Given the description of an element on the screen output the (x, y) to click on. 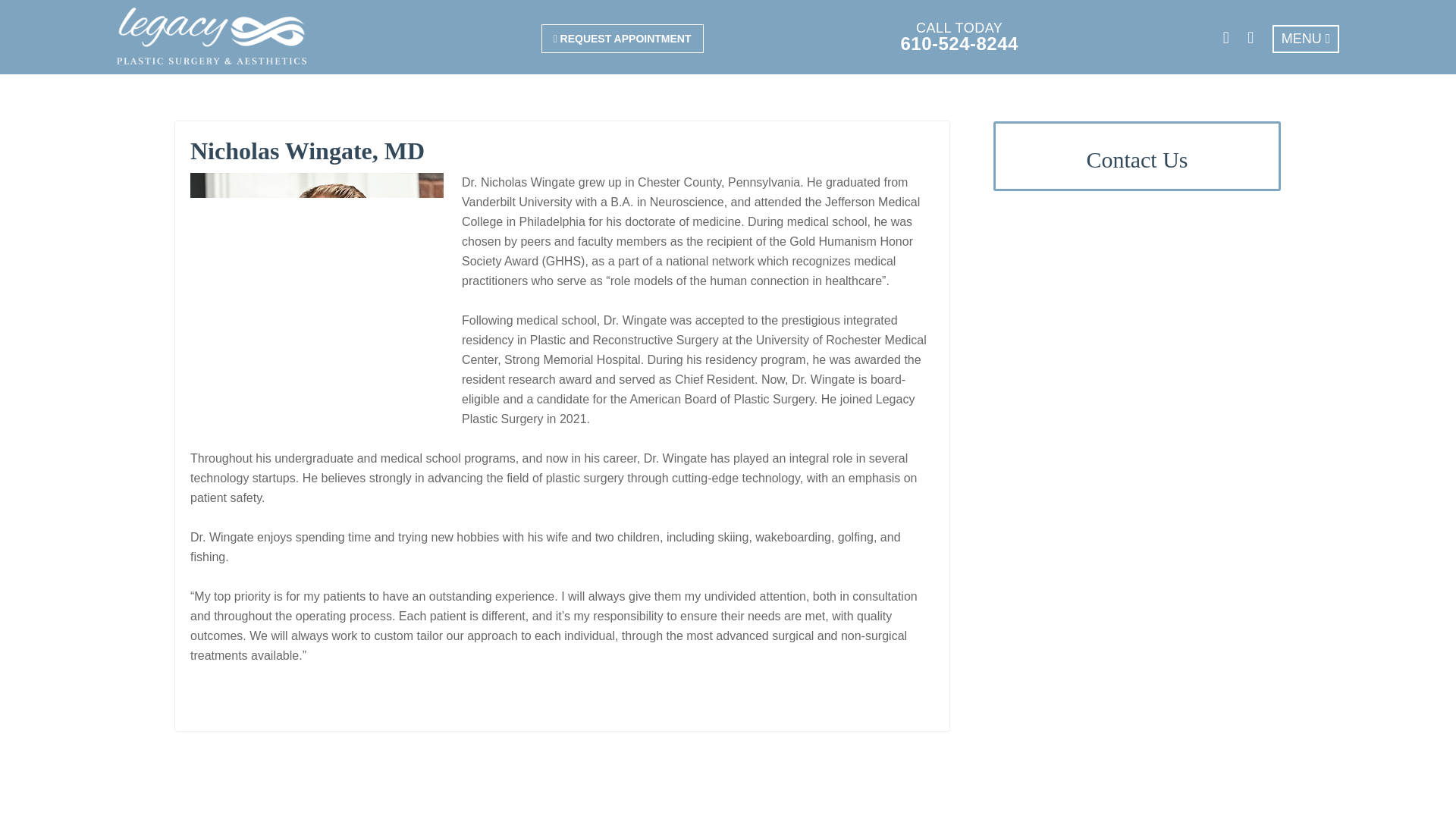
REQUEST APPOINTMENT (622, 38)
MENU (1305, 39)
